Given the description of an element on the screen output the (x, y) to click on. 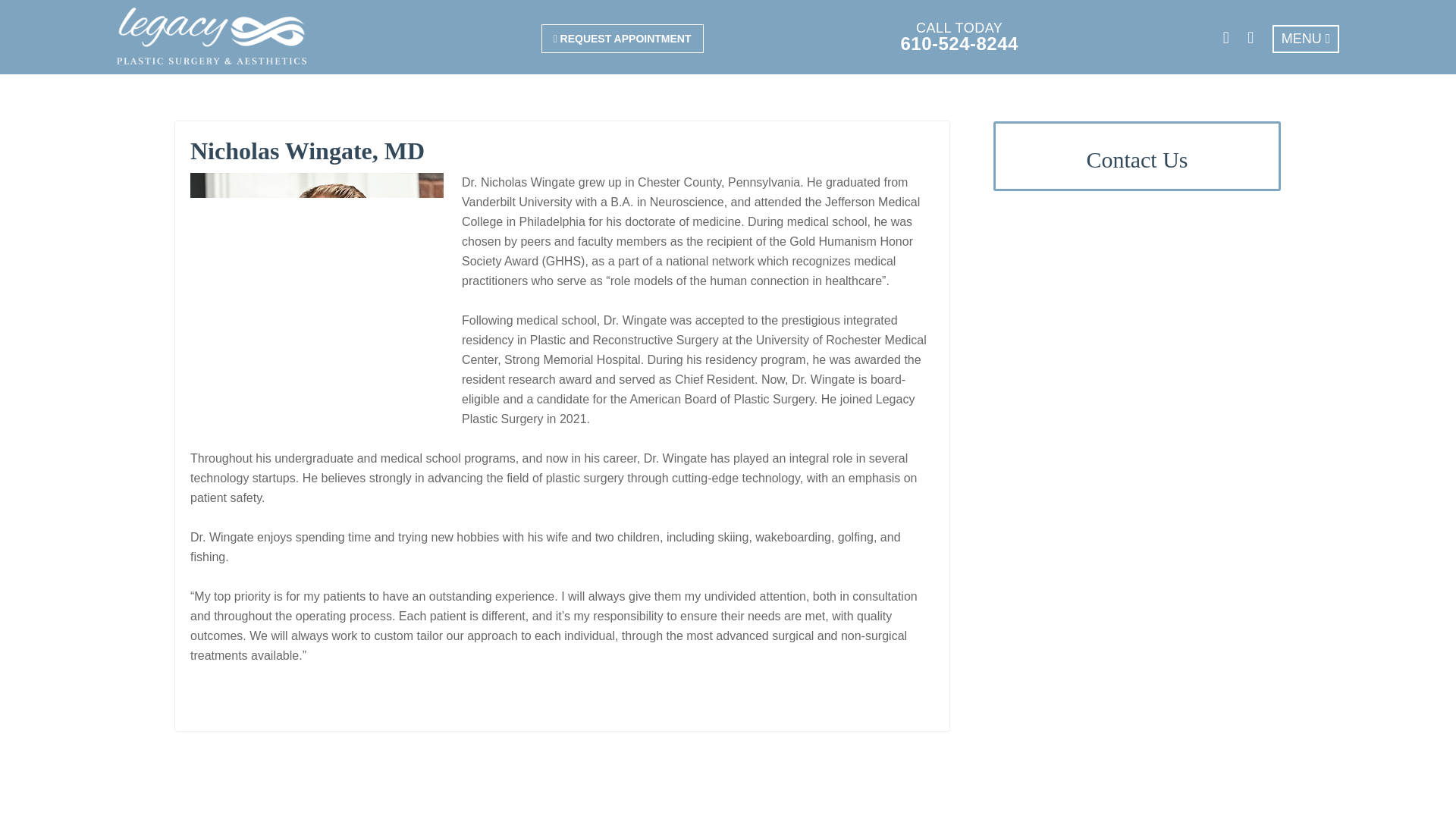
REQUEST APPOINTMENT (622, 38)
MENU (1305, 39)
